Given the description of an element on the screen output the (x, y) to click on. 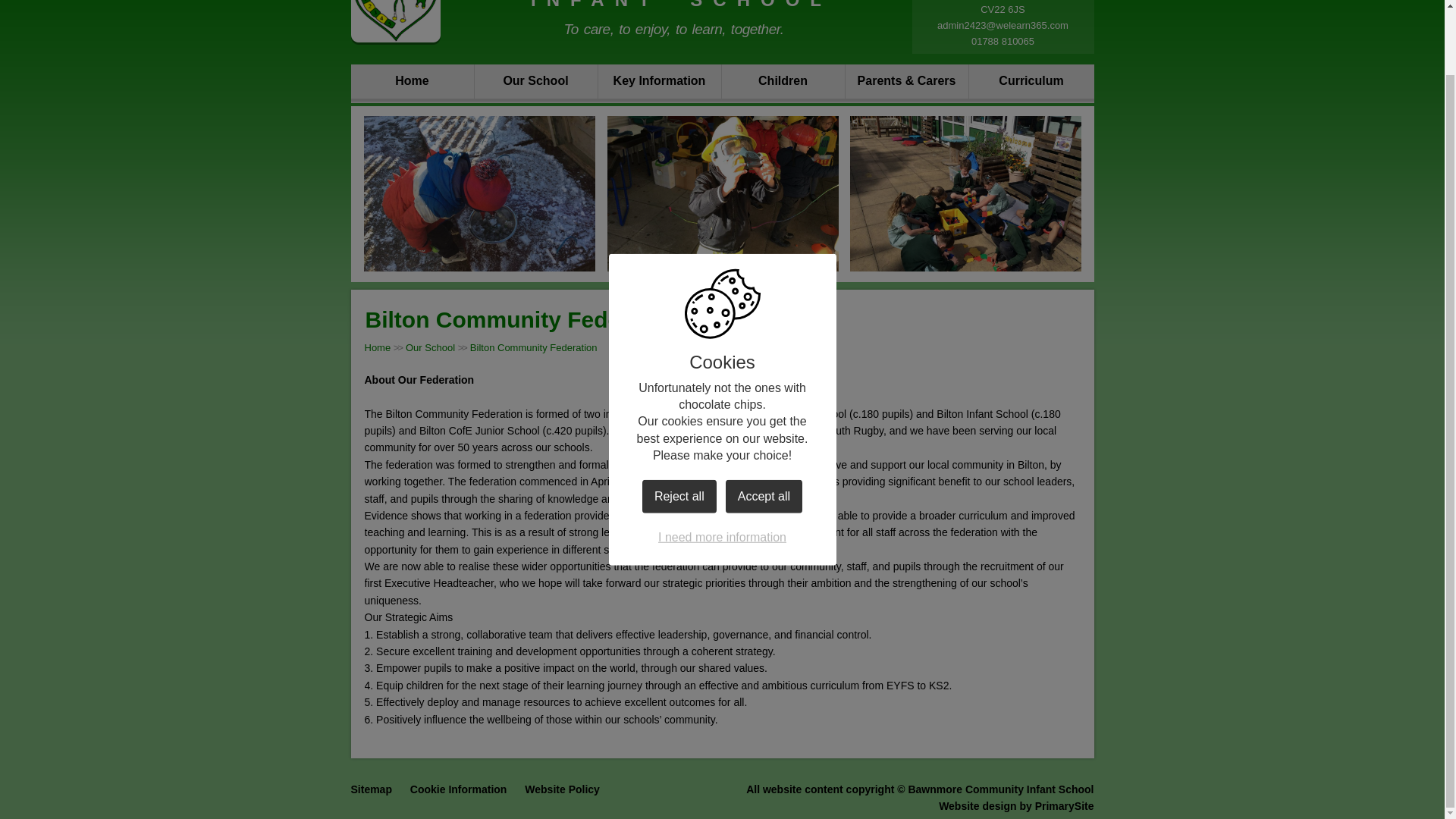
Bilton Community Federation (533, 347)
Our School (535, 84)
Children (783, 84)
Home Page (394, 21)
Home (377, 347)
Home (411, 84)
Home Page (394, 21)
Key Information (658, 84)
Our School (430, 347)
